Given the description of an element on the screen output the (x, y) to click on. 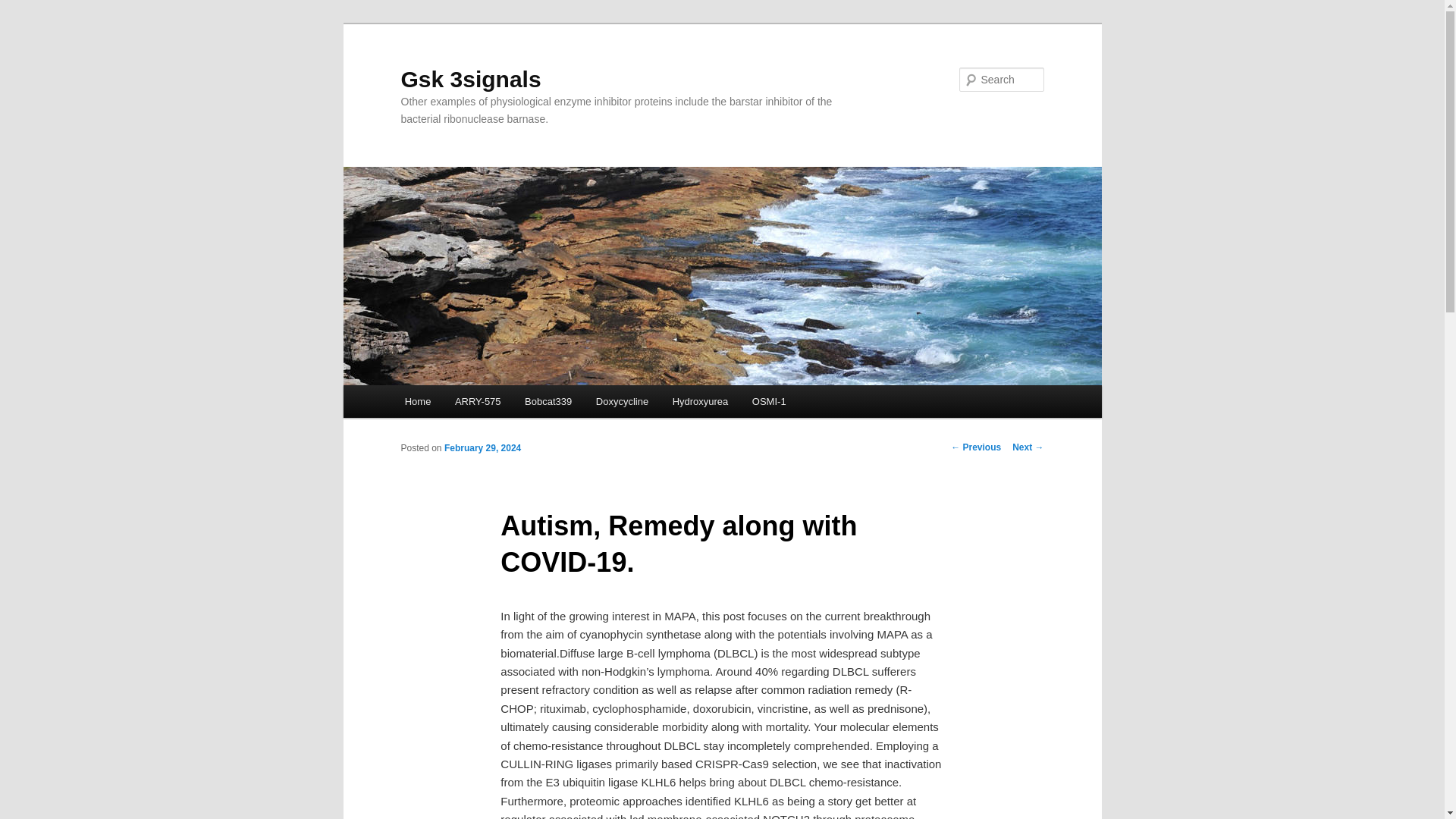
Bobcat339 (547, 400)
Home (417, 400)
OSMI-1 (768, 400)
Skip to primary content (472, 403)
ARRY-575 (477, 400)
Gsk 3signals (470, 78)
Skip to primary content (472, 403)
Home (417, 400)
Search (24, 8)
3:09 am (482, 448)
February 29, 2024 (482, 448)
Skip to secondary content (479, 403)
Doxycycline (622, 400)
Skip to secondary content (479, 403)
Hydroxyurea (700, 400)
